Given the description of an element on the screen output the (x, y) to click on. 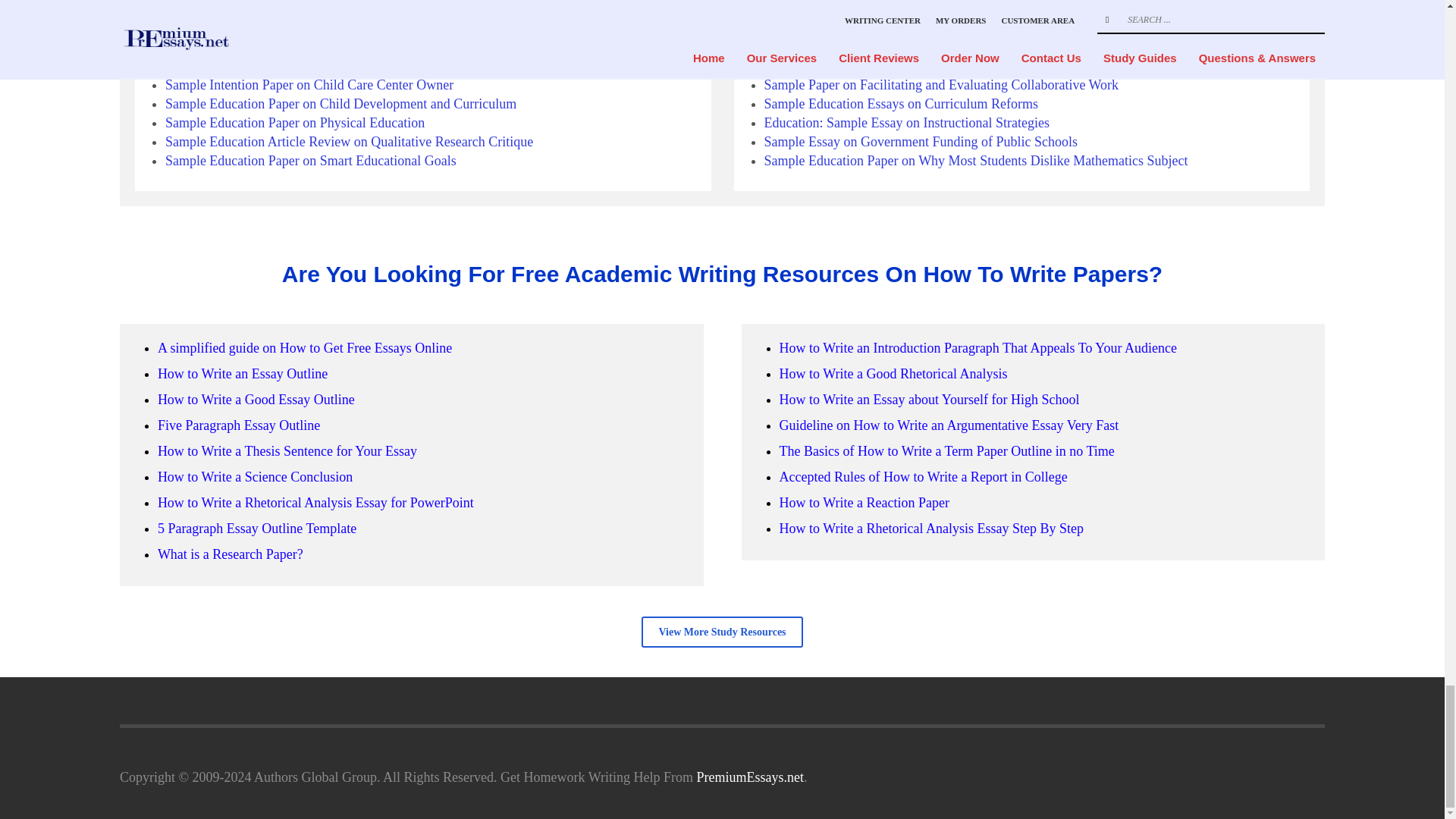
Sample Education Case Study on Childhood Development (324, 46)
Sample Education Paper on The Nursing Process (299, 28)
Sample Education Paper on Physical Education (295, 122)
Sample Education Paper on Smart Educational Goals (311, 160)
Sample Intention Paper on Child Care Center Owner (308, 84)
Sample Education Paper on Child Development and Curriculum (340, 103)
Sample Education Paper on Social Cognitive Learning Theory (335, 65)
